Given the description of an element on the screen output the (x, y) to click on. 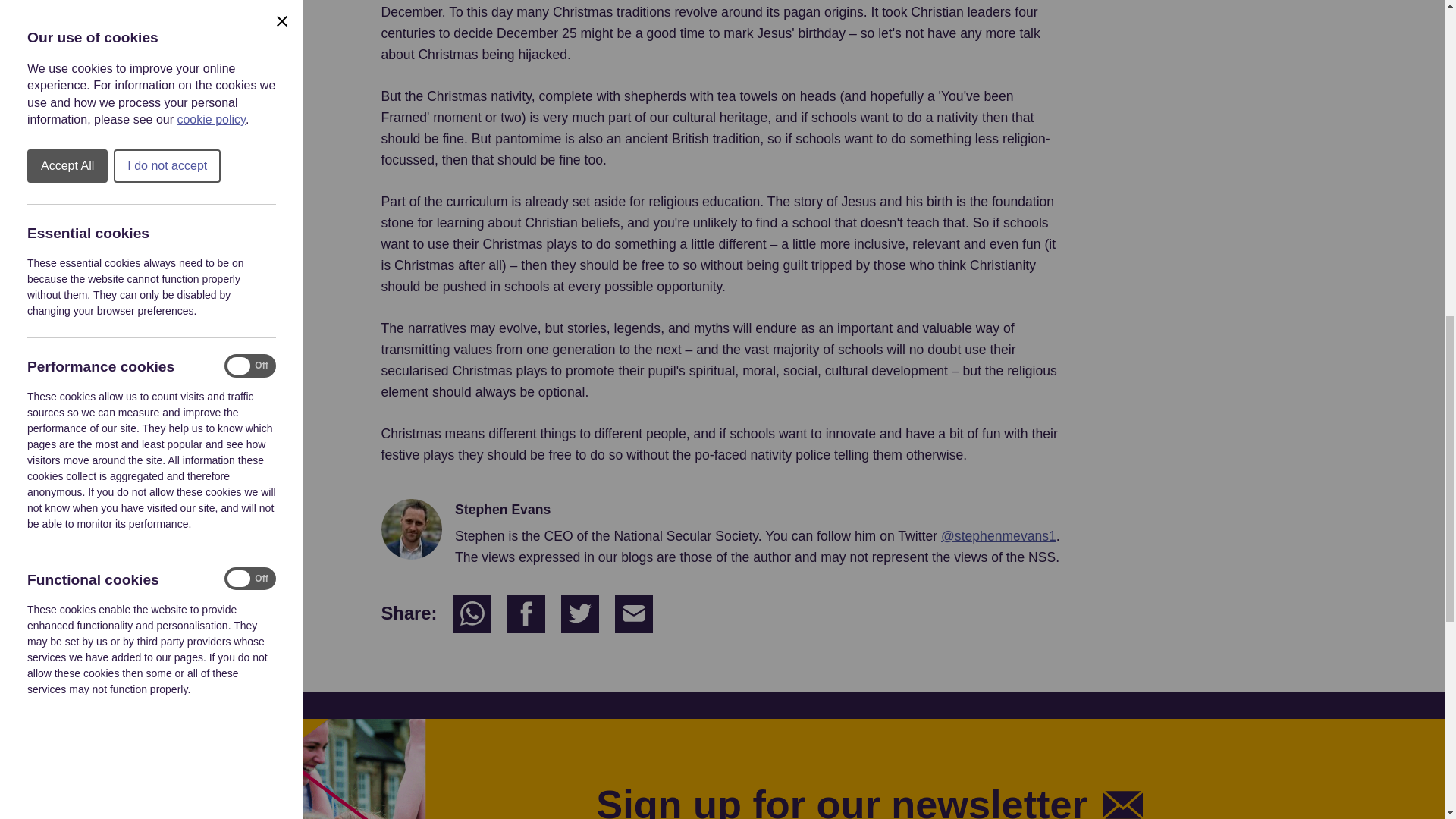
Share on Facebook (525, 614)
Share on Twitter (579, 614)
Share on What's App (472, 614)
Share on Email (633, 614)
